Given the description of an element on the screen output the (x, y) to click on. 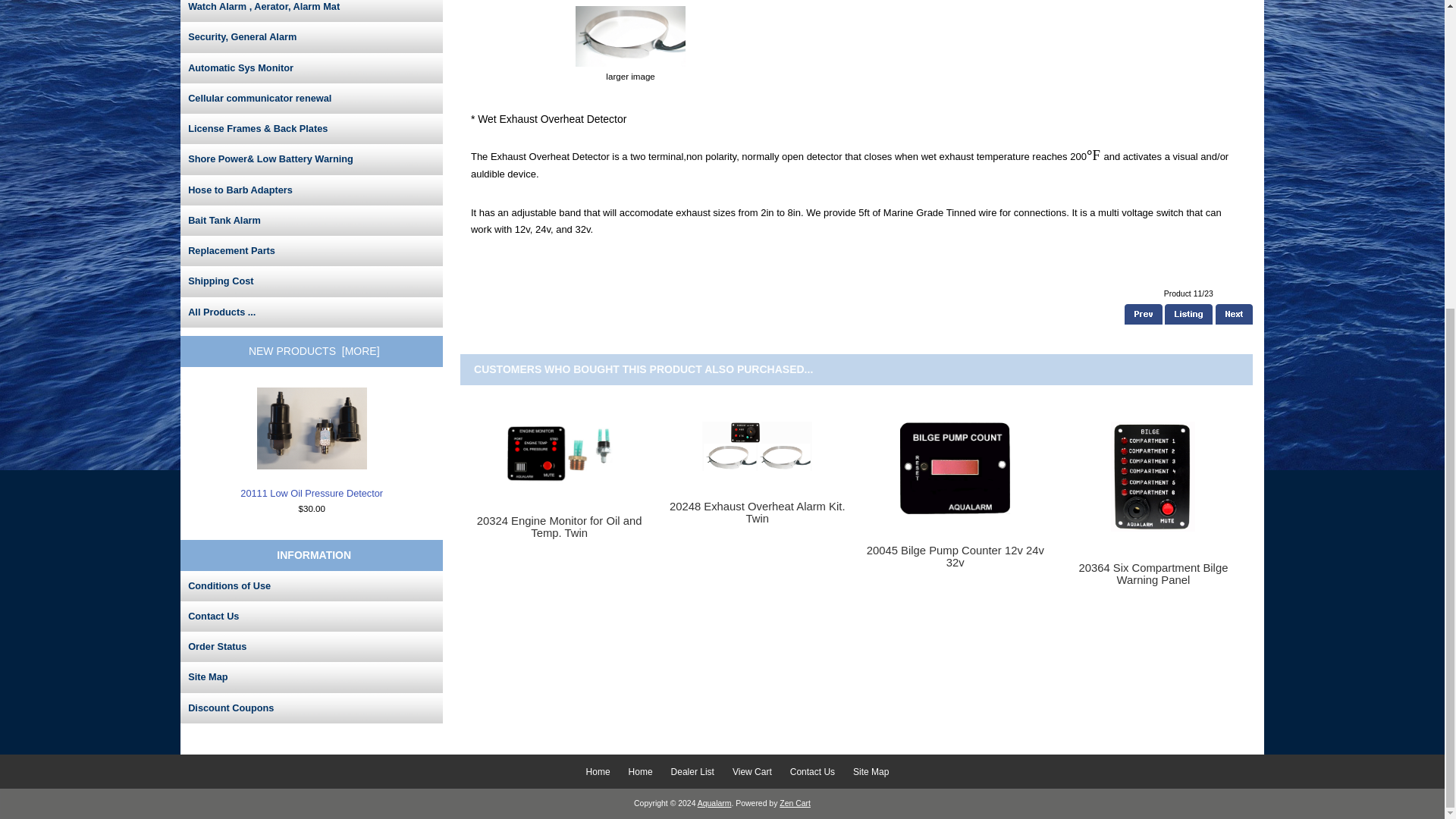
20250 Exhaust Overheat Detector (630, 35)
Next (1233, 313)
Security, General Alarm (311, 37)
20324 Engine Monitor for Oil and Temp. Twin (558, 452)
Watch Alarm , Aerator, Alarm Mat (311, 11)
Previous (1142, 313)
Hose to Barb Adapters (311, 190)
20364 Six Compartment Bilge Warning Panel (1152, 476)
Cellular communicator renewal (311, 98)
Automatic Sys Monitor (311, 68)
20111 Low Oil Pressure Detector (311, 428)
20045 Bilge Pump Counter 12v 24v 32v (954, 467)
Return to the Product List (1188, 313)
20248 Exhaust Overheat Alarm Kit. Twin (756, 445)
Bait Tank Alarm (311, 220)
